Given the description of an element on the screen output the (x, y) to click on. 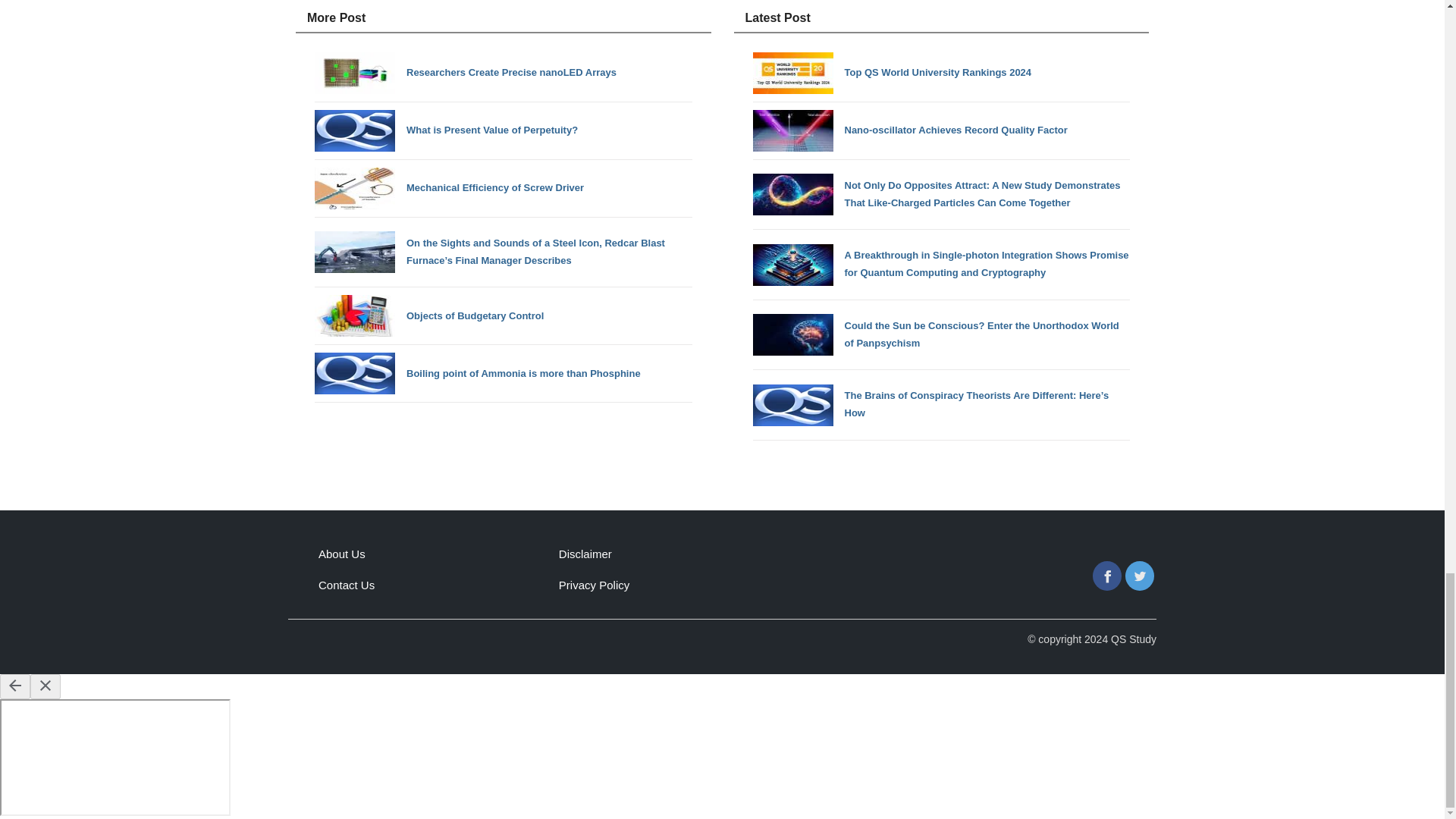
What is Present Value of Perpetuity? (503, 130)
Boiling point of Ammonia is more than Phosphine (503, 372)
Objects of Budgetary Control (503, 315)
Top QS World University Rankings 2024 (940, 73)
Nano-oscillator Achieves Record Quality Factor (940, 130)
Mechanical Efficiency of Screw Driver (503, 188)
Researchers Create Precise nanoLED Arrays (503, 73)
